Given the description of an element on the screen output the (x, y) to click on. 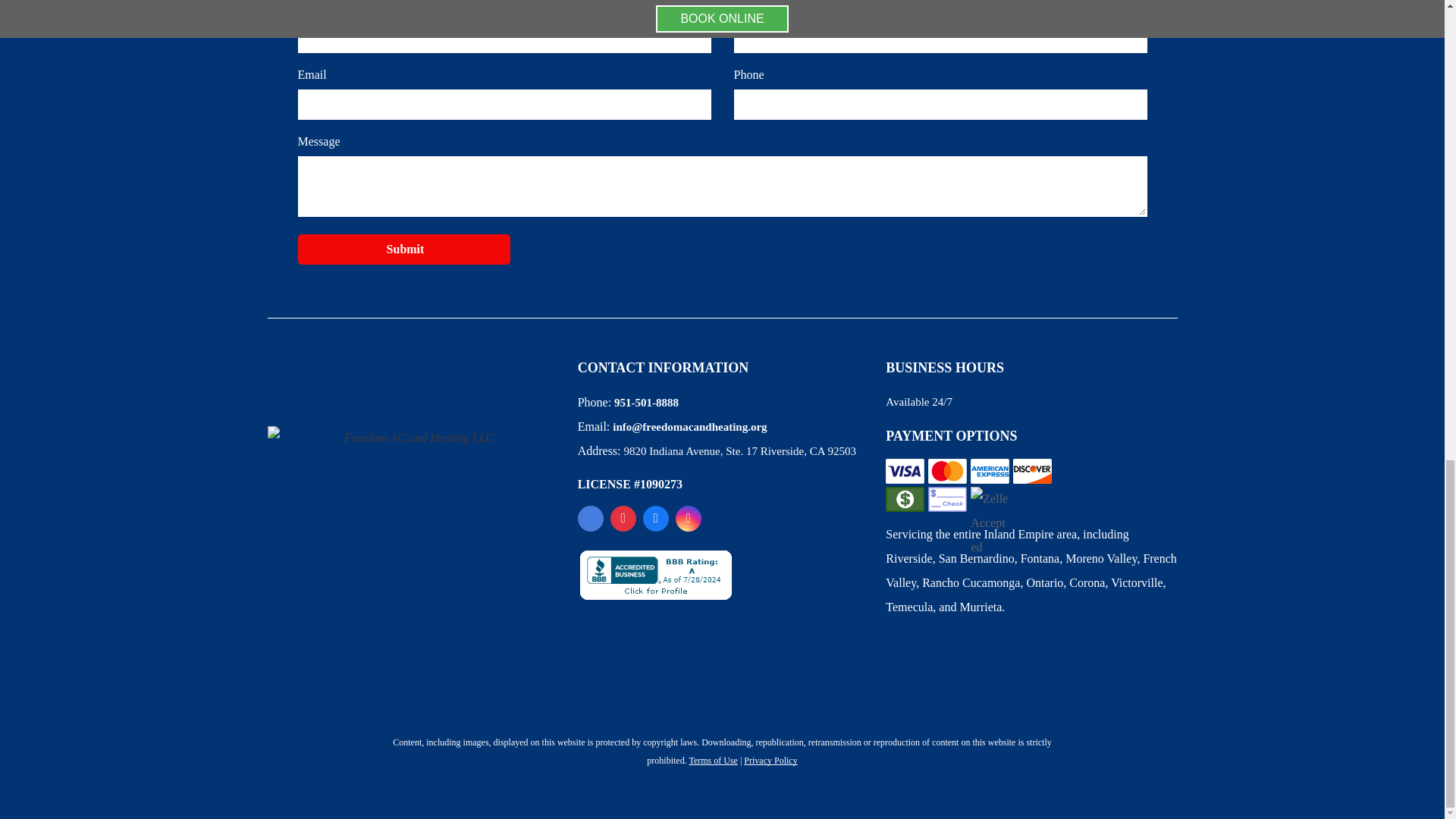
951-501-8888 (646, 402)
Terms of Use (712, 760)
Submit (404, 249)
Submit (404, 249)
Privacy Policy (770, 760)
Freedom AC and Heating LLC (411, 486)
